Given the description of an element on the screen output the (x, y) to click on. 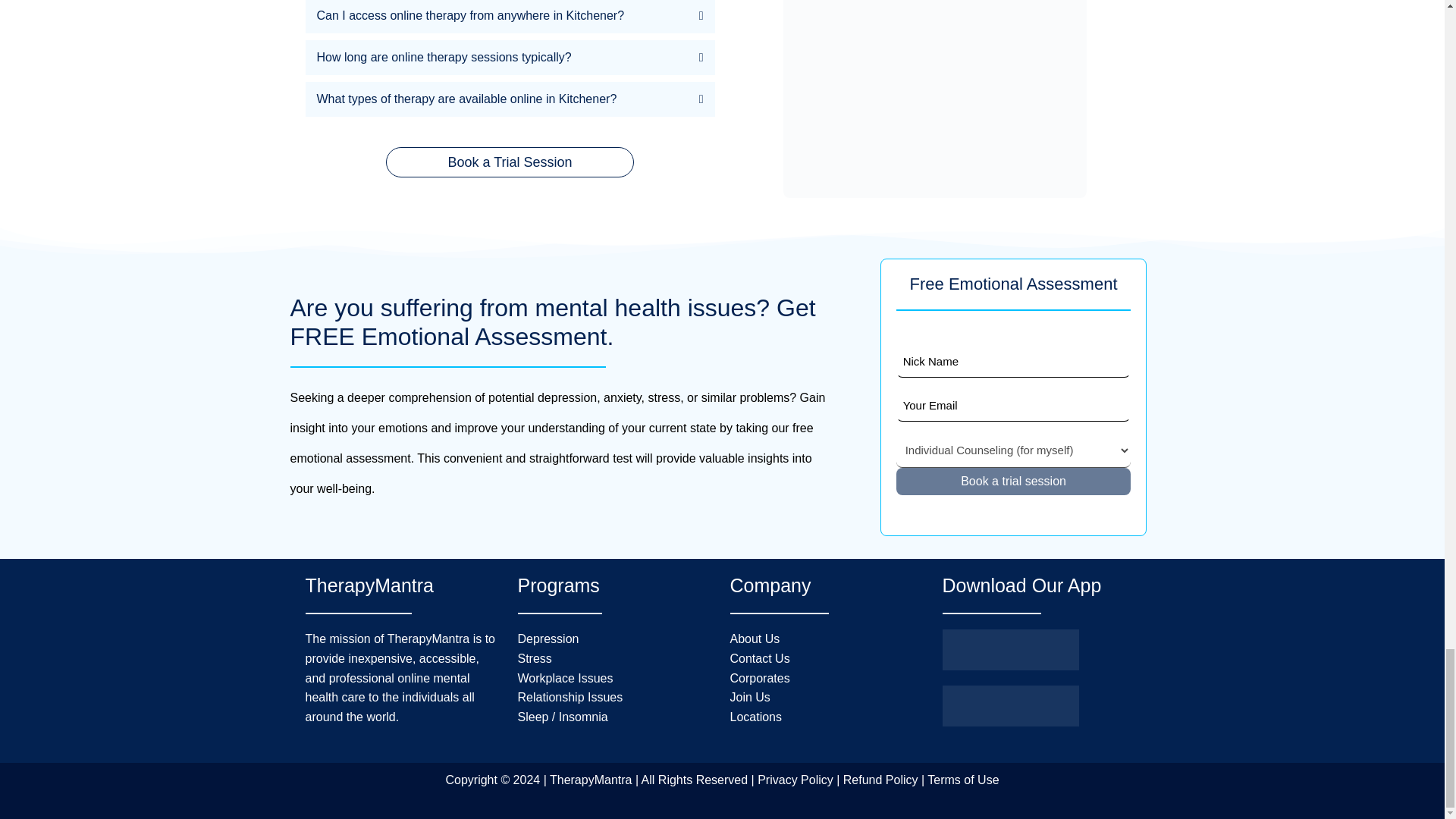
Book a trial session (1013, 481)
